Given the description of an element on the screen output the (x, y) to click on. 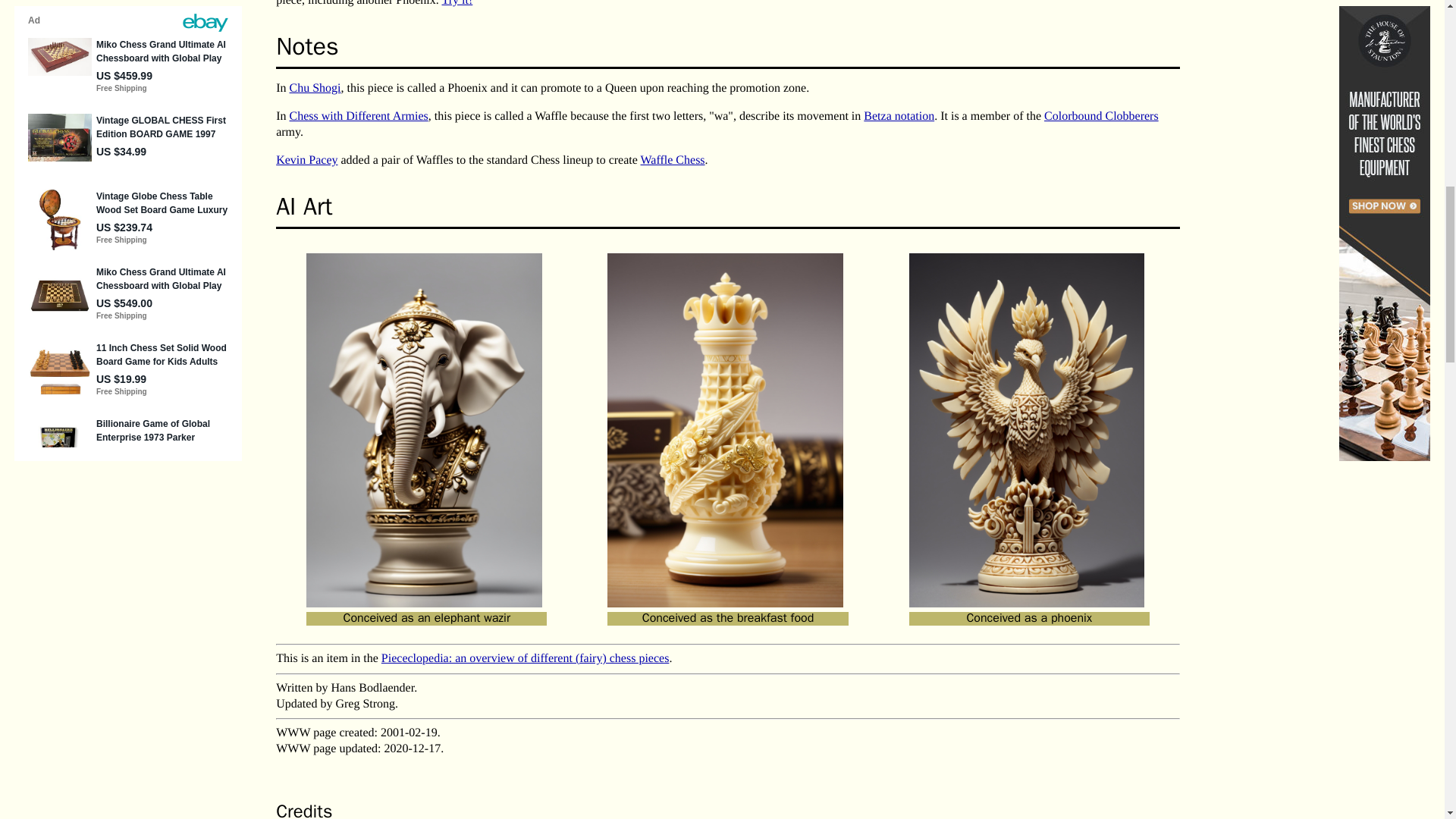
Chu Shogi (314, 88)
Betza notation (898, 115)
Chess with Different Armies (358, 115)
Try it! (457, 3)
Colorbound Clobberers (1100, 115)
Waffle Chess (672, 160)
Kevin Pacey (306, 160)
